Given the description of an element on the screen output the (x, y) to click on. 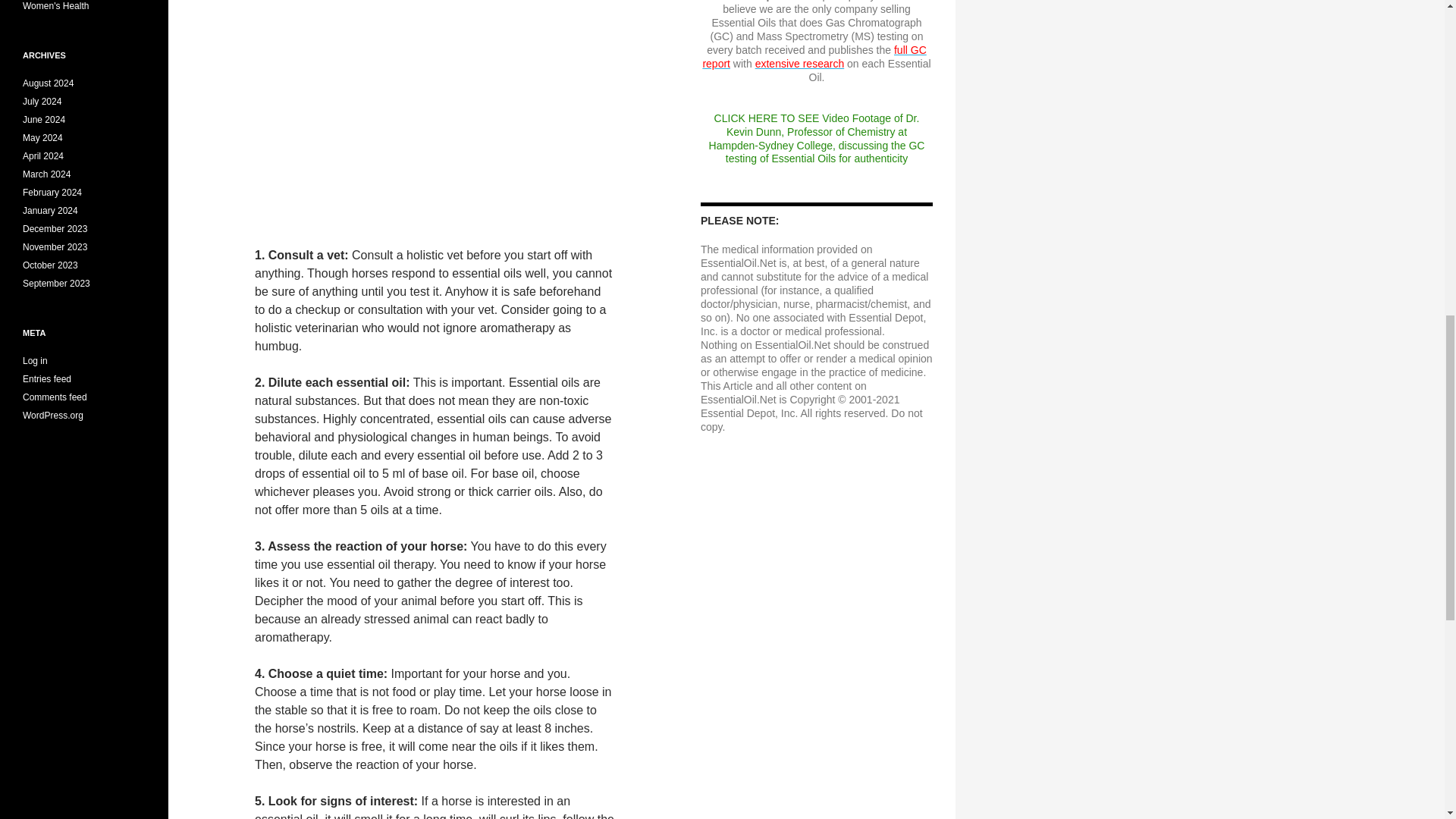
full GC report (813, 56)
extensive research (799, 63)
